Given the description of an element on the screen output the (x, y) to click on. 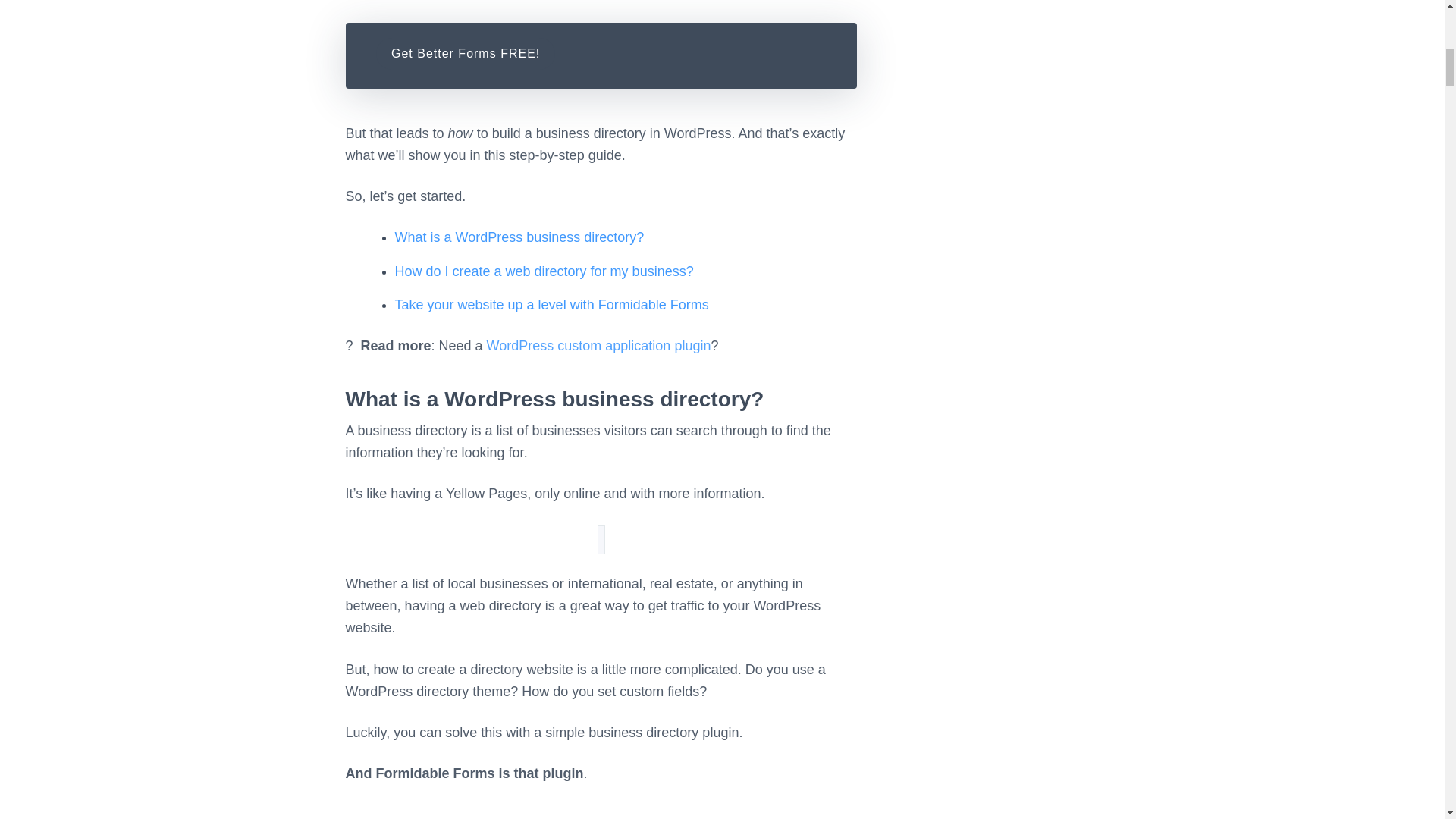
WordPress custom application plugin (598, 345)
Get Better Forms FREE! (464, 53)
How do I create a web directory for my business? (543, 271)
Take your website up a level with Formidable Forms (550, 304)
What is a WordPress business directory? (518, 237)
